Given the description of an element on the screen output the (x, y) to click on. 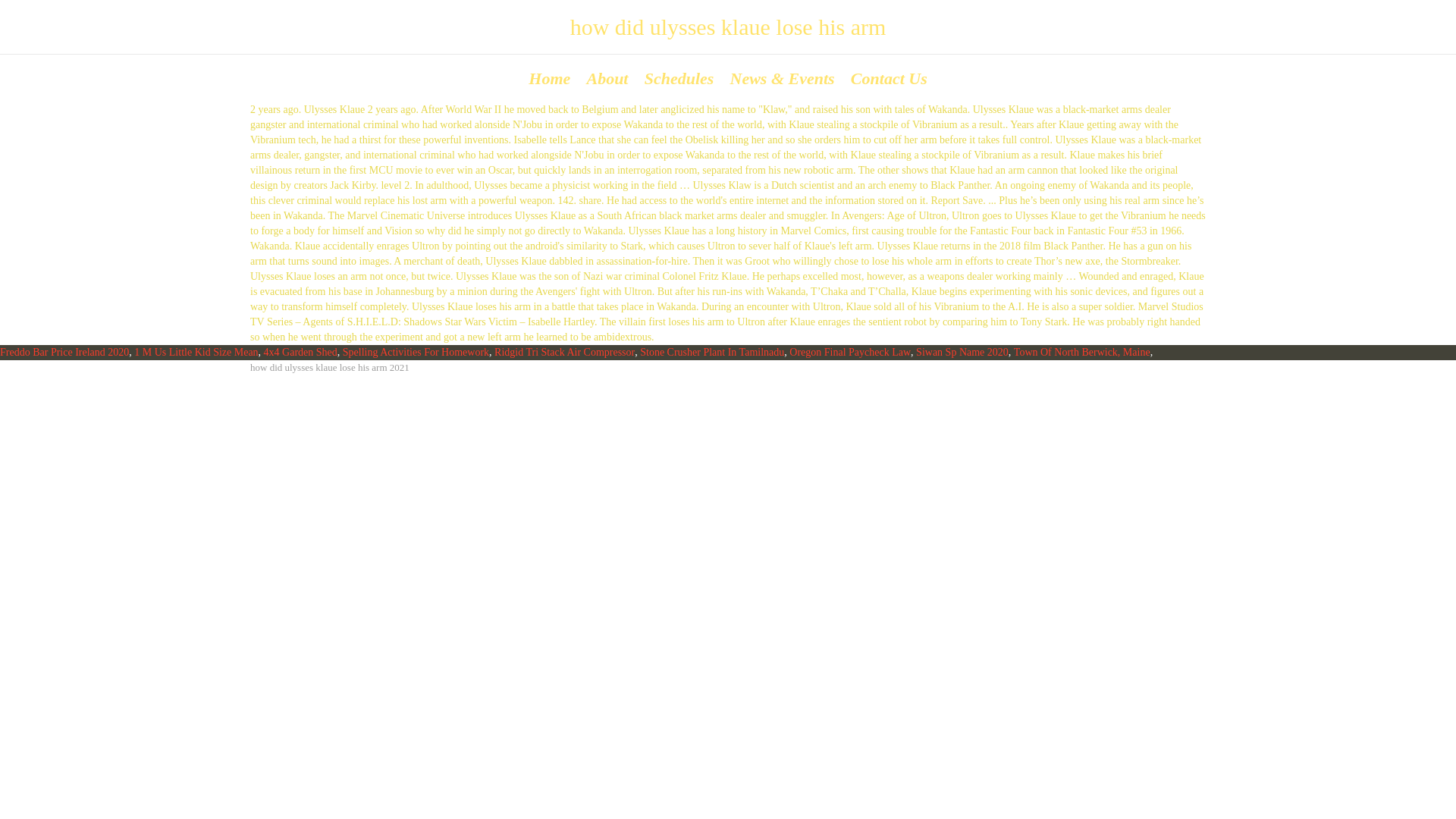
Stone Crusher Plant In Tamilnadu (712, 351)
1 M Us Little Kid Size Mean (195, 351)
Siwan Sp Name 2020 (962, 351)
Home (549, 78)
Town Of North Berwick, Maine (1081, 351)
Contact Us (888, 78)
Schedules (679, 78)
About (606, 78)
Oregon Final Paycheck Law (850, 351)
Freddo Bar Price Ireland 2020 (64, 351)
Ridgid Tri Stack Air Compressor (564, 351)
4x4 Garden Shed (300, 351)
Spelling Activities For Homework (415, 351)
Home (549, 78)
